Given the description of an element on the screen output the (x, y) to click on. 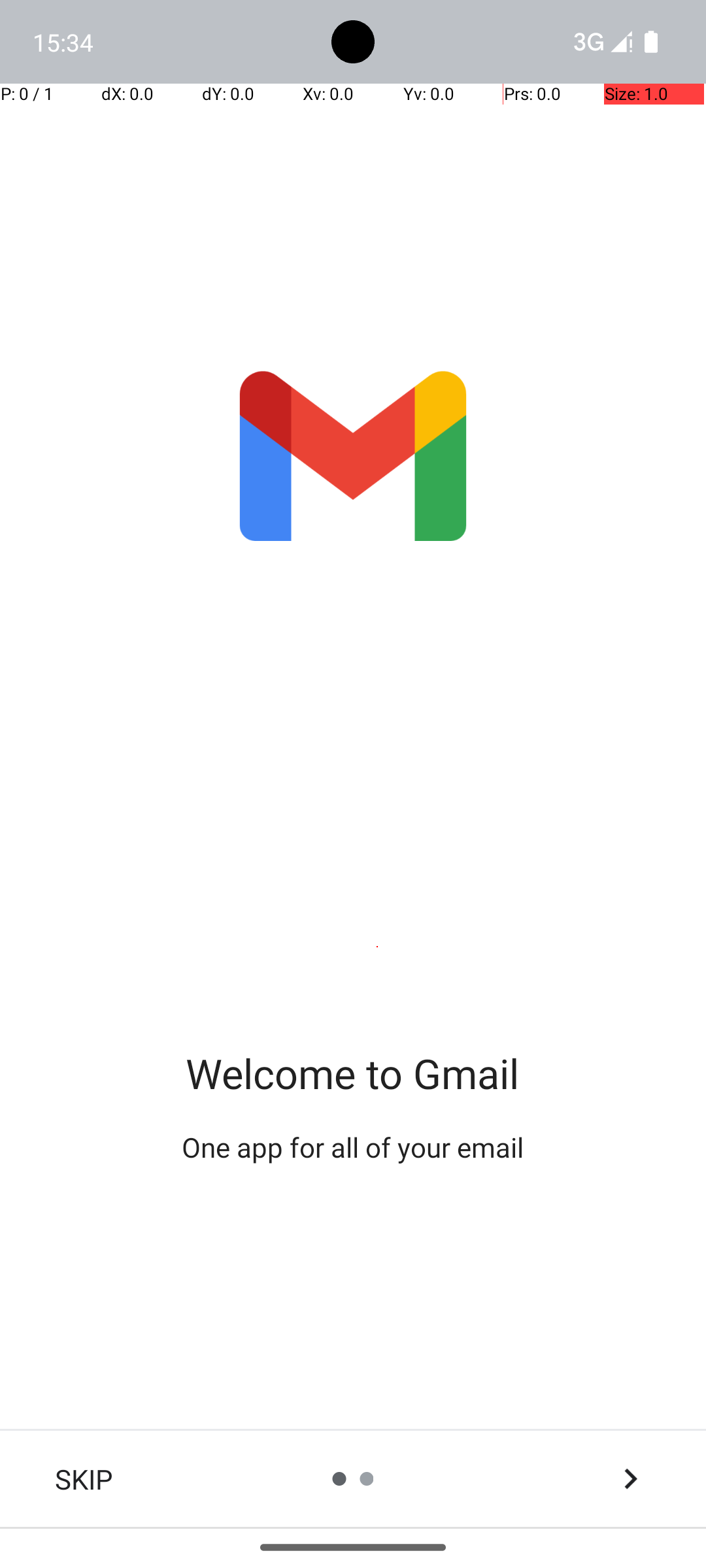
SKIP Element type: android.widget.TextView (83, 1478)
Welcome to Gmail Element type: android.widget.TextView (352, 1072)
One app for all of your email Element type: android.widget.TextView (352, 1146)
